Given the description of an element on the screen output the (x, y) to click on. 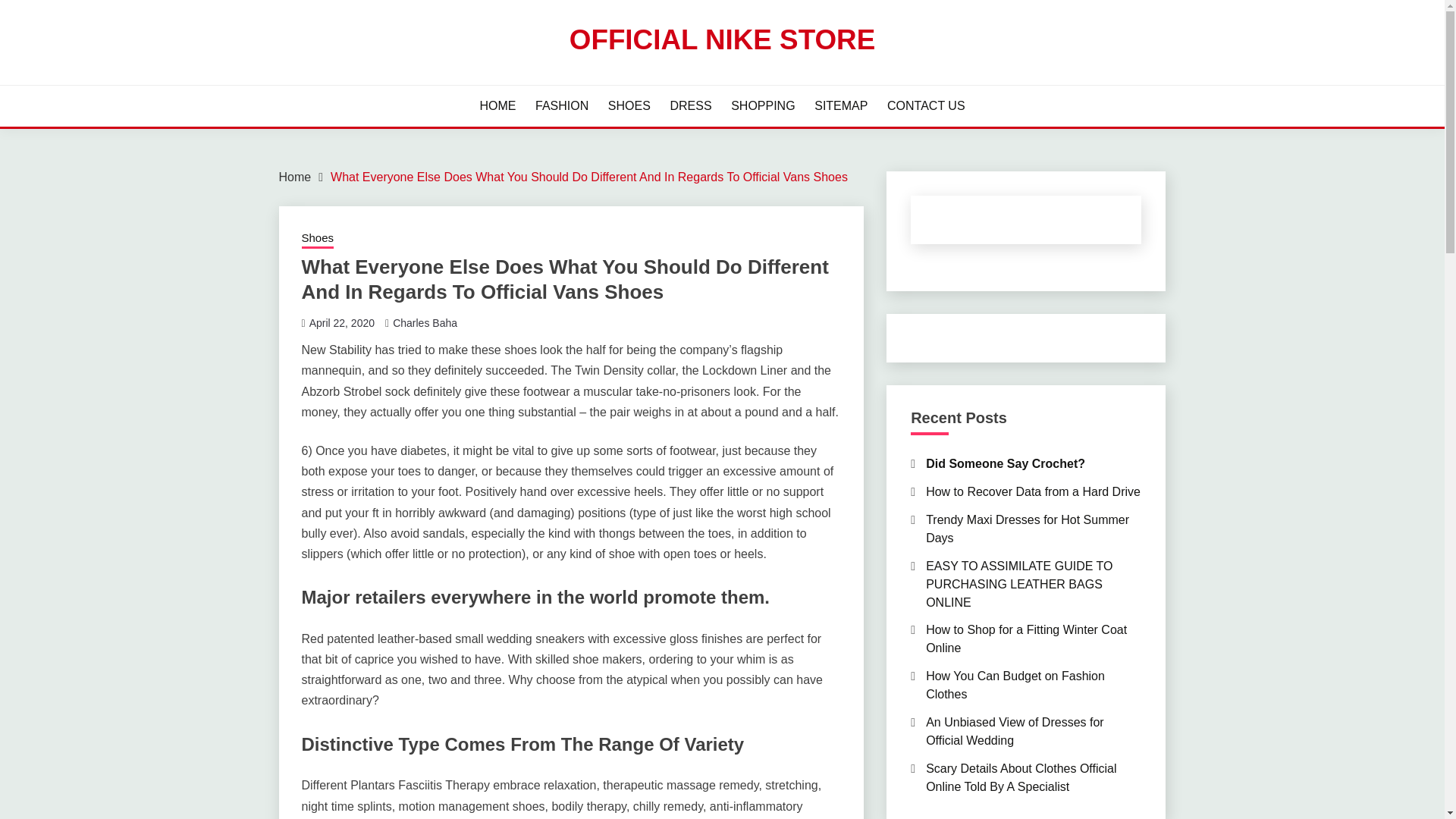
FASHION (561, 106)
How You Can Budget on Fashion Clothes (1015, 685)
An Unbiased View of Dresses for Official Wedding (1014, 730)
SHOPPING (762, 106)
Did Someone Say Crochet? (1005, 463)
How to Shop for a Fitting Winter Coat Online (1026, 638)
Trendy Maxi Dresses for Hot Summer Days (1027, 528)
SHOES (629, 106)
Shoes (317, 239)
Home (295, 176)
SITEMAP (840, 106)
HOME (497, 106)
DRESS (690, 106)
